Given the description of an element on the screen output the (x, y) to click on. 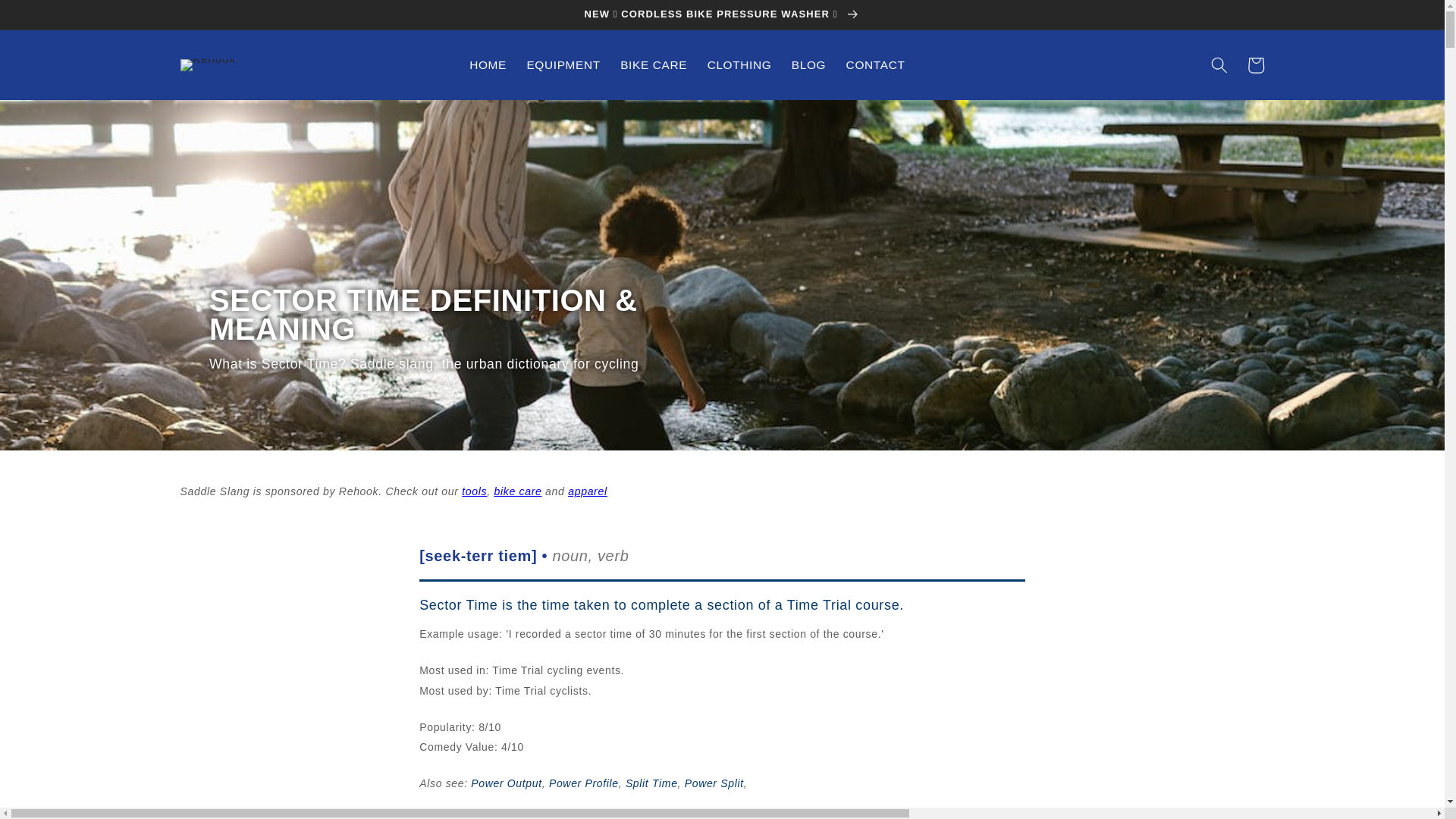
Cycling Apparel (587, 491)
HOME (488, 64)
Cycling Equipment (473, 491)
Revive Your Ride with Premium Bike Care Kits (517, 491)
CONTACT (874, 64)
EQUIPMENT (563, 64)
Cart (1255, 64)
CLOTHING (738, 64)
bike care (517, 491)
Power Split (714, 783)
